Given the description of an element on the screen output the (x, y) to click on. 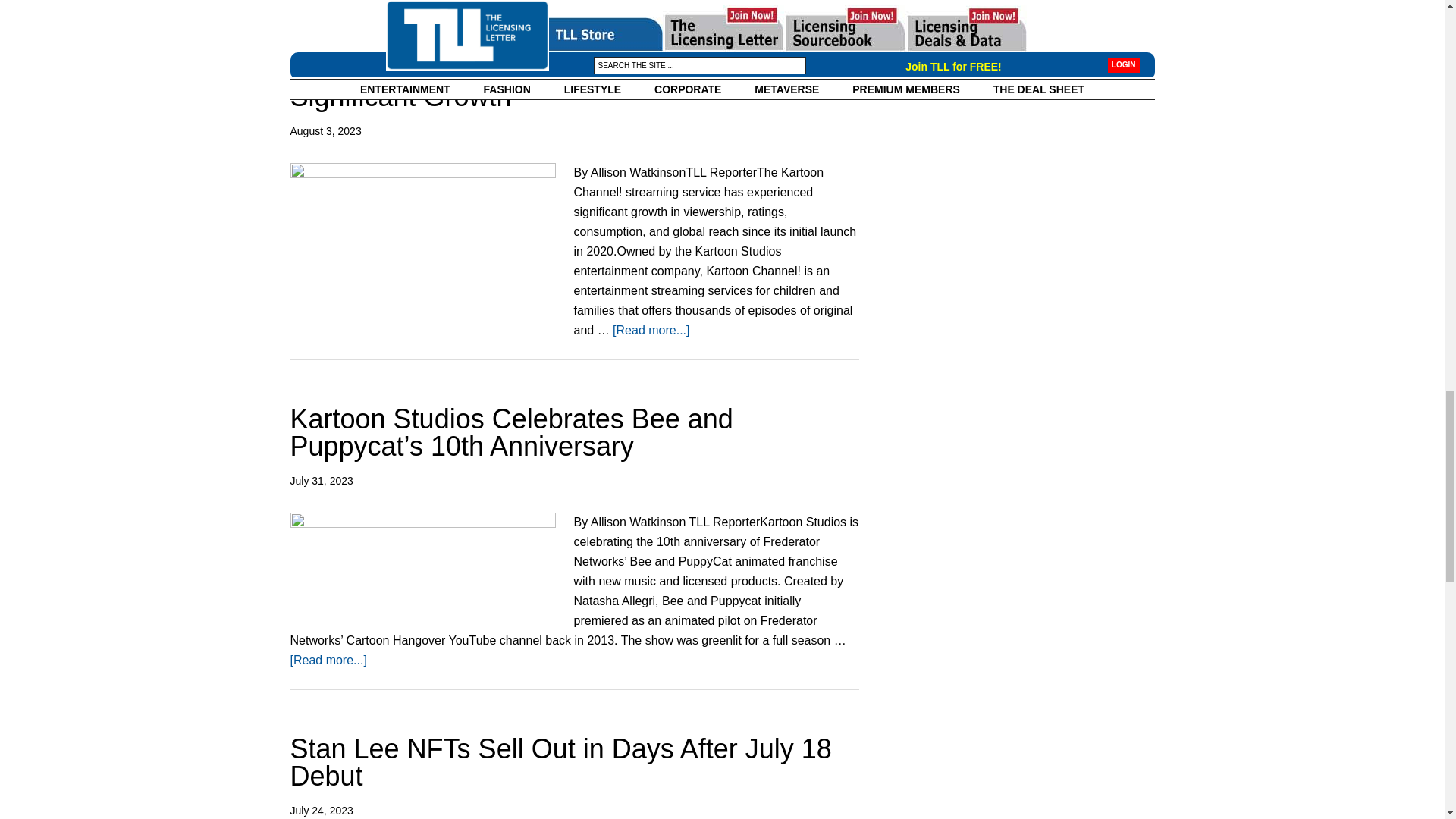
Kartoon Channel Streaming Service Reports Significant Growth (558, 83)
Stan Lee NFTs Sell Out in Days After July 18 Debut (560, 761)
